Given the description of an element on the screen output the (x, y) to click on. 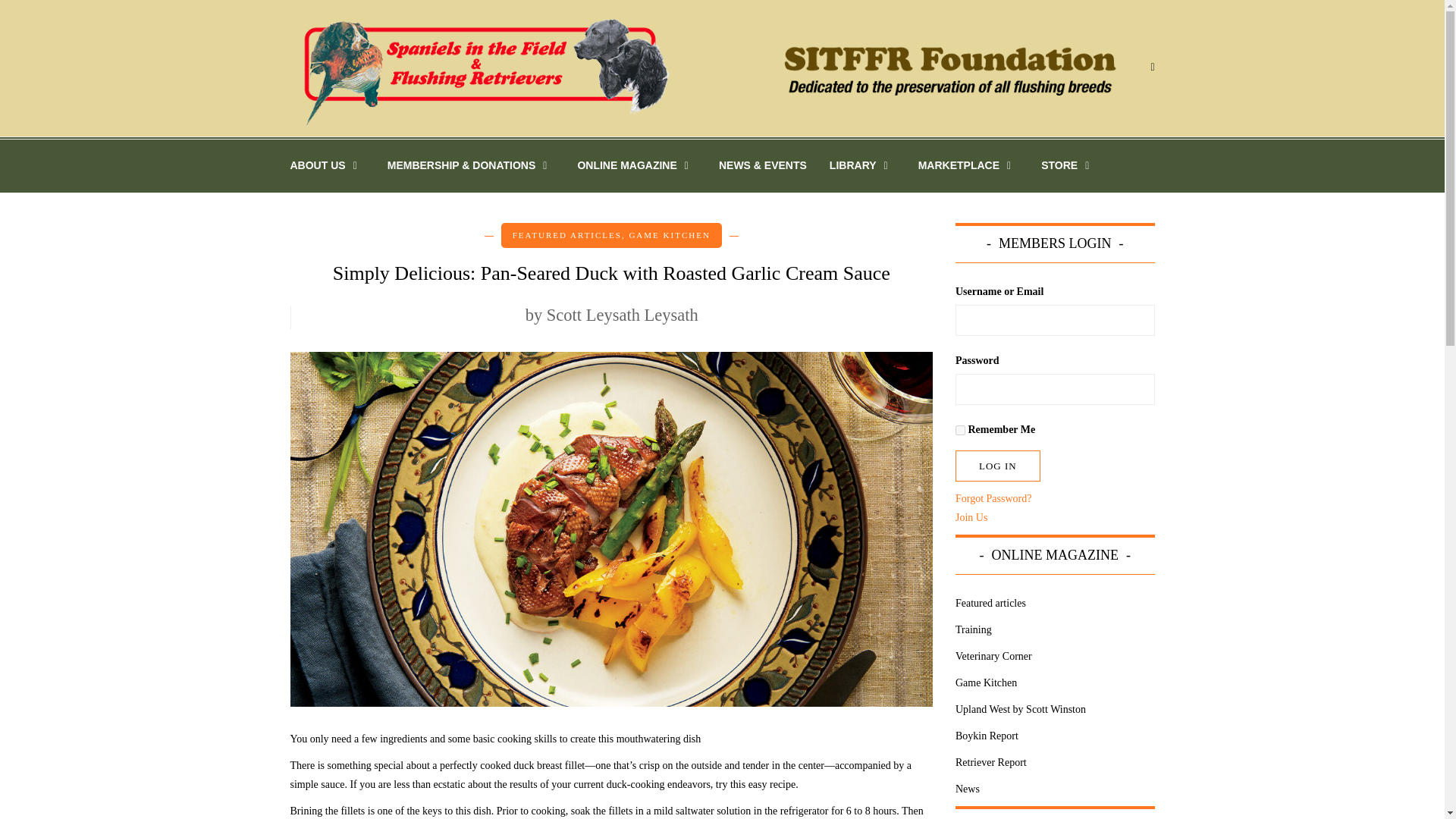
on (960, 429)
Log In (998, 465)
ABOUT US (332, 165)
